Given the description of an element on the screen output the (x, y) to click on. 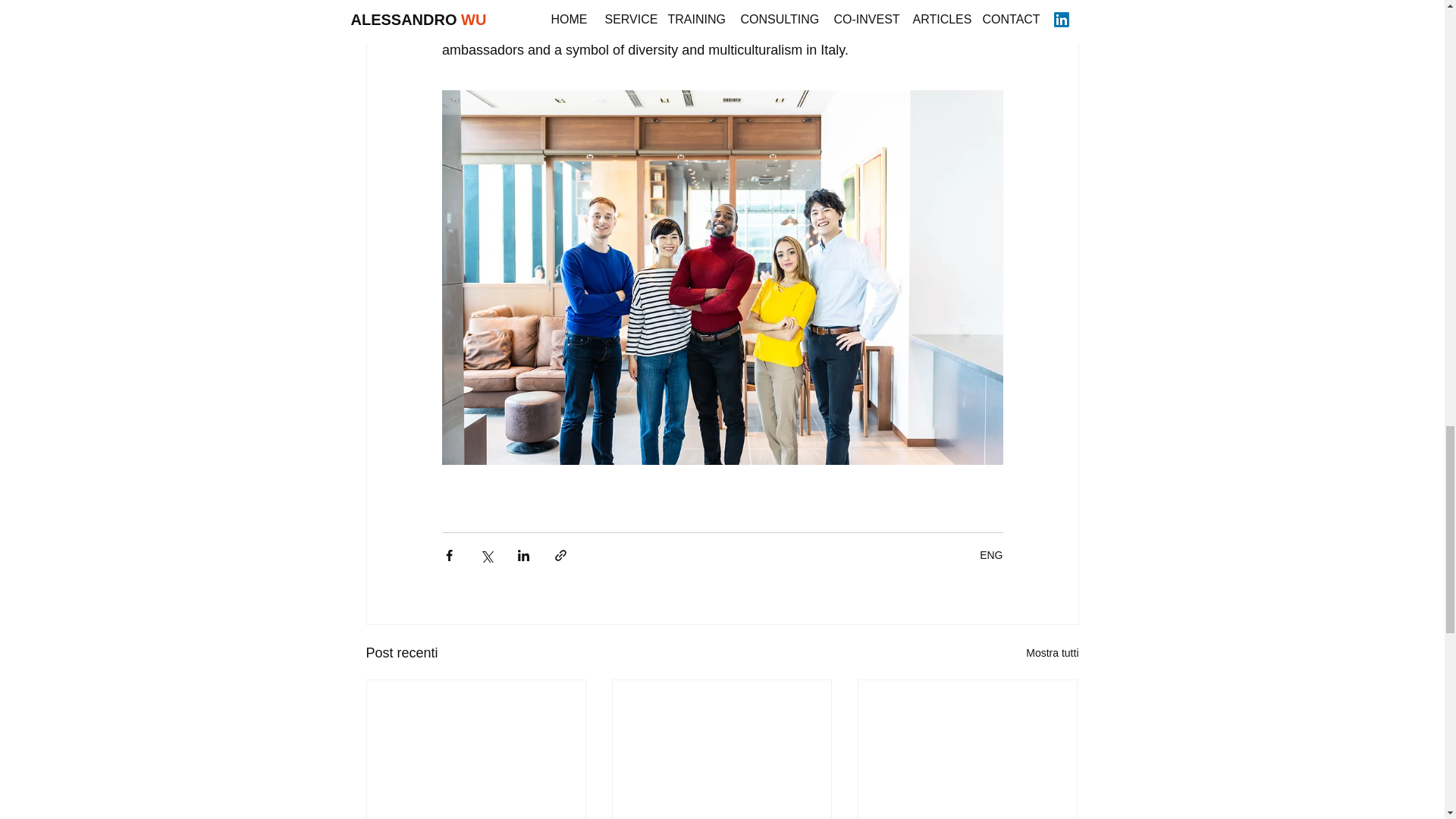
Mostra tutti (1052, 653)
ENG (991, 554)
